Given the description of an element on the screen output the (x, y) to click on. 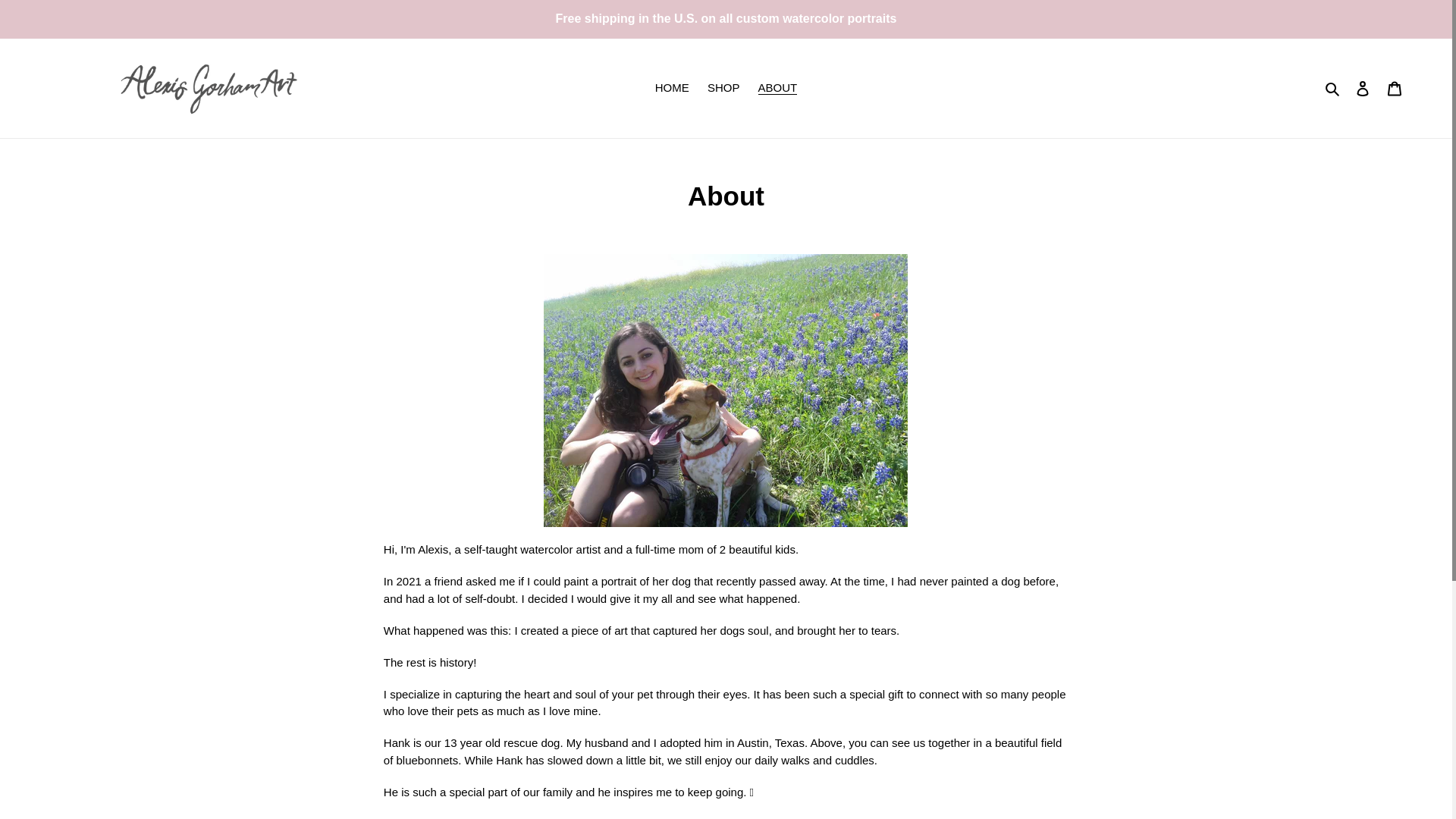
Log in (1362, 88)
Cart (1394, 88)
HOME (672, 87)
ABOUT (778, 87)
Search (1333, 87)
SHOP (724, 87)
